Given the description of an element on the screen output the (x, y) to click on. 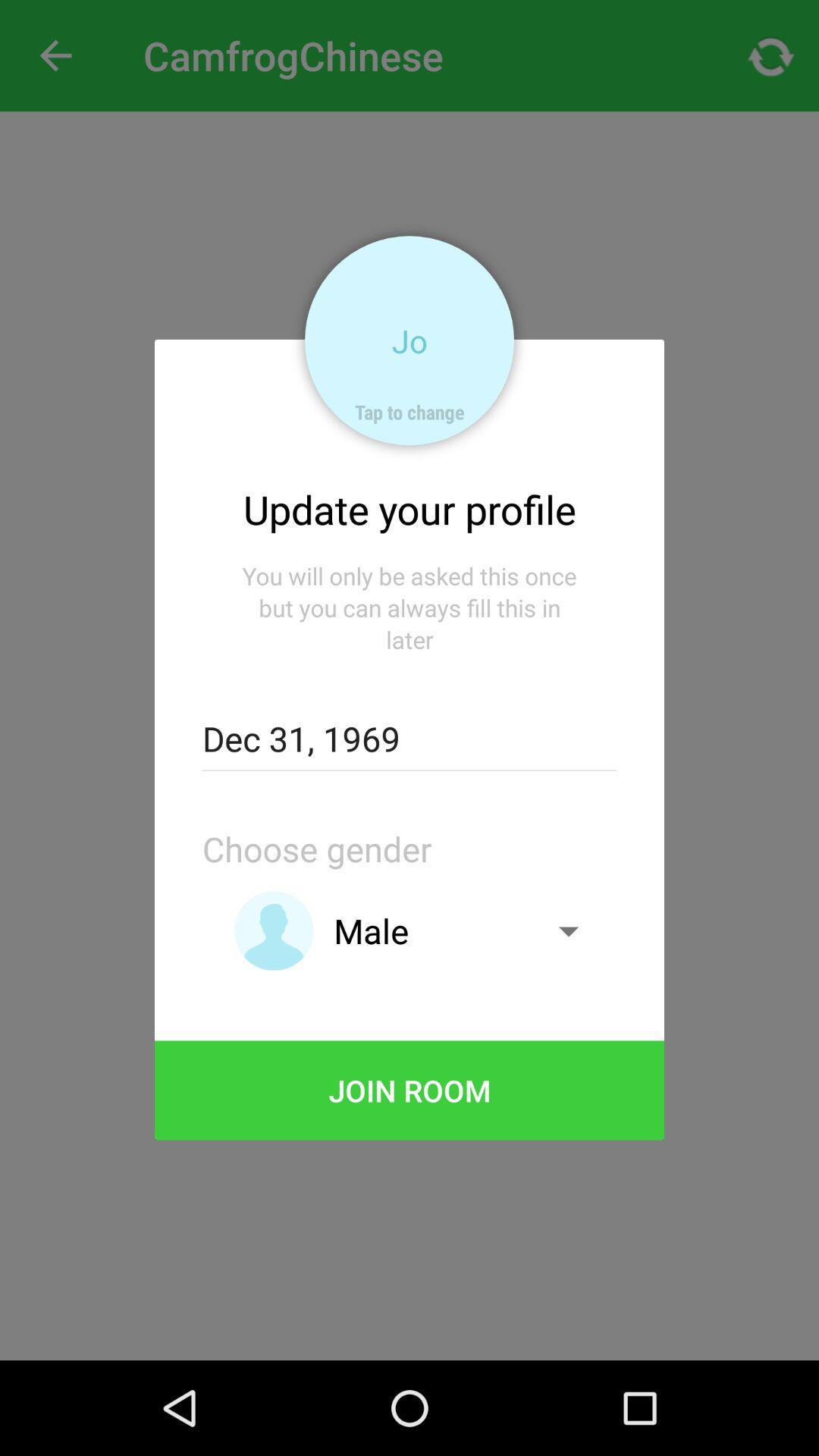
open icon above the choose gender (409, 739)
